Given the description of an element on the screen output the (x, y) to click on. 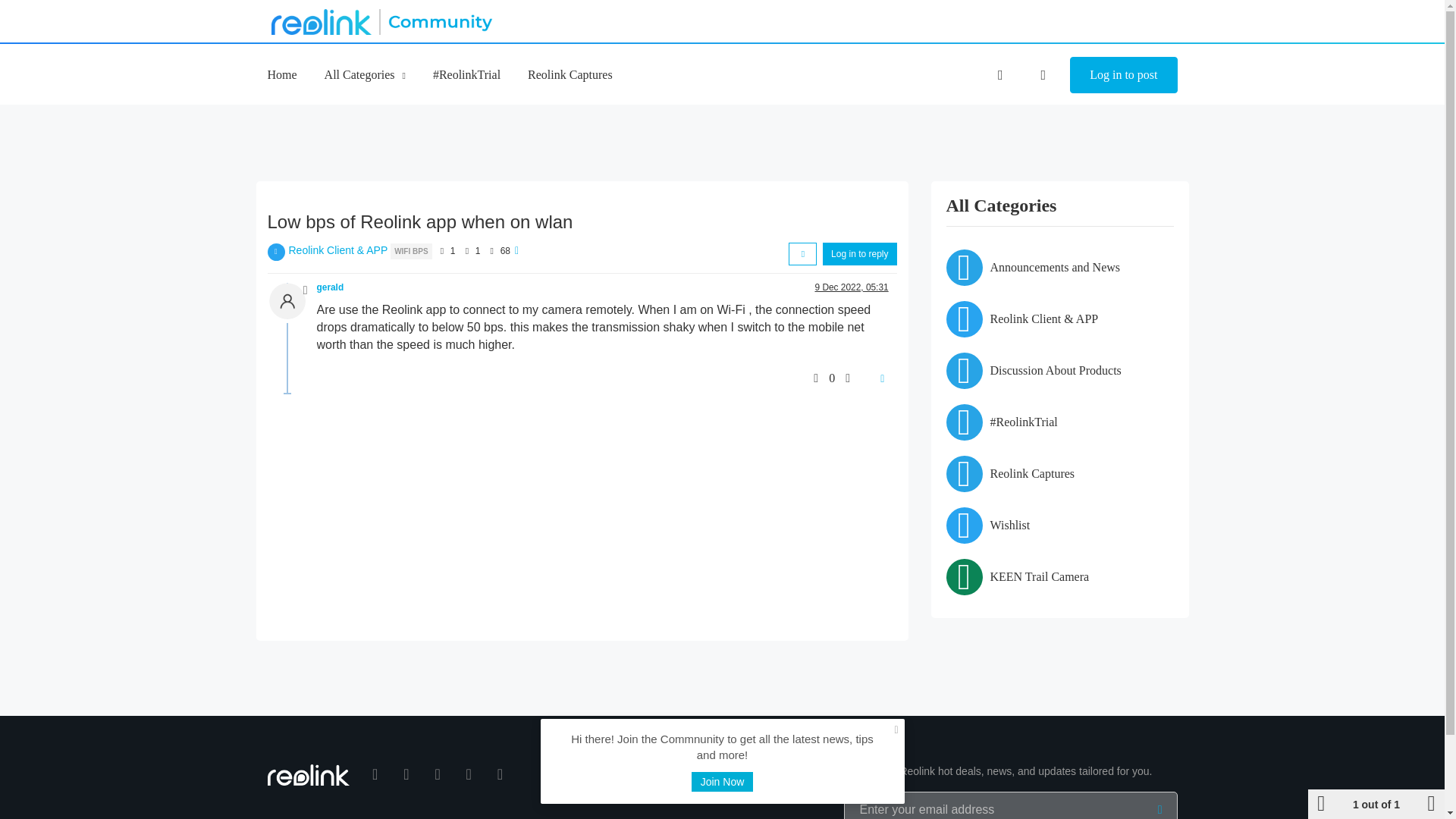
68 (505, 250)
Reolink Captures (569, 74)
Home (281, 74)
gerald (330, 286)
WIFI BPS (410, 250)
9 Dec 2022, 05:31 (850, 286)
9 Dec 2022, 05:31 (850, 286)
All Categories (365, 74)
Posts (466, 250)
Log in to post (1123, 75)
